Given the description of an element on the screen output the (x, y) to click on. 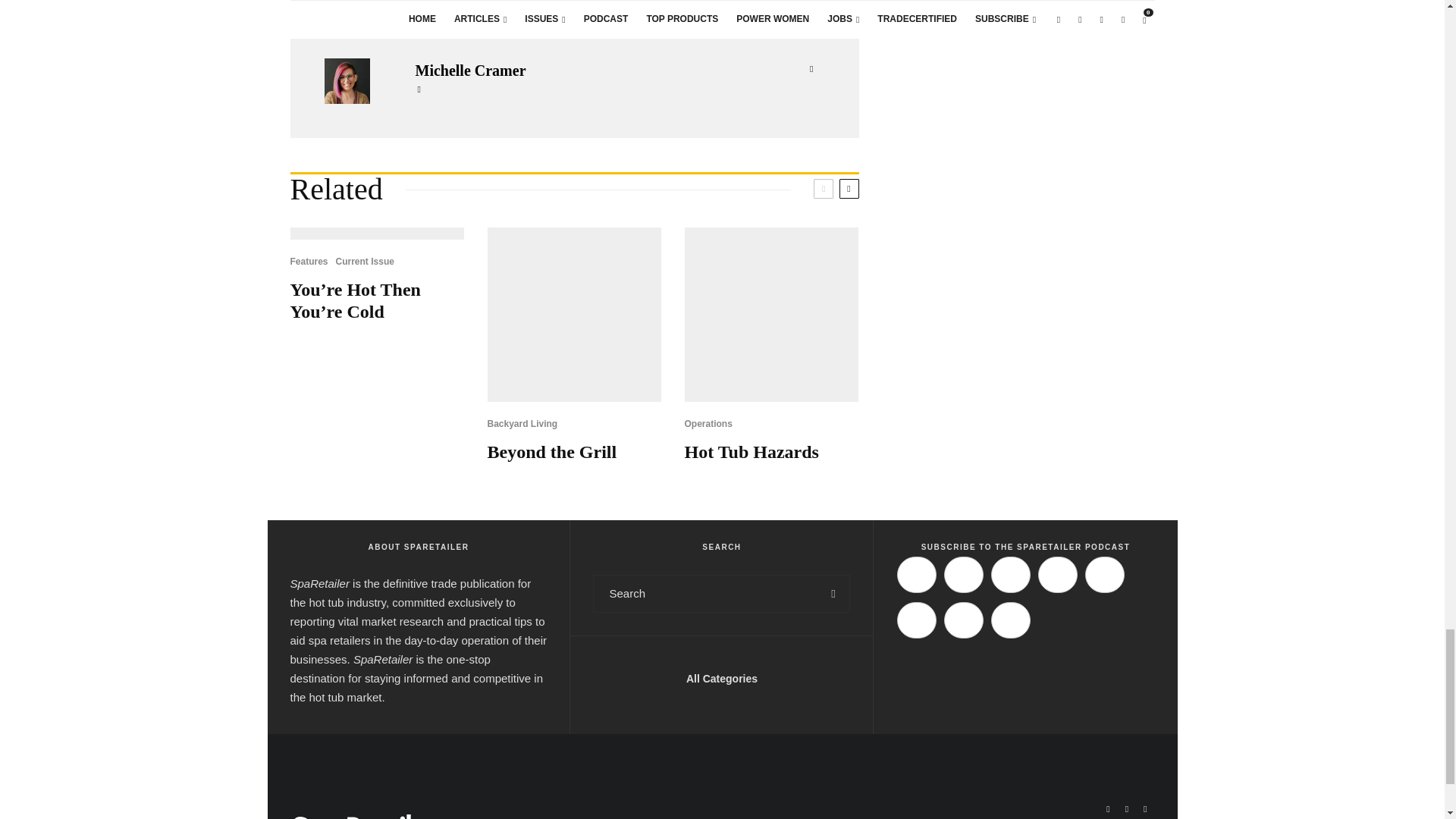
Subscribe on Apple Podcasts (916, 574)
Subscribe on Podchaser (1104, 574)
Subscribe on Spotify (963, 574)
Subscribe by Email (916, 619)
Subscribe on Android (1057, 574)
More Subscribe Options (1010, 619)
Subscribe on Amazon Music (1010, 574)
Subscribe via RSS (963, 619)
